Given the description of an element on the screen output the (x, y) to click on. 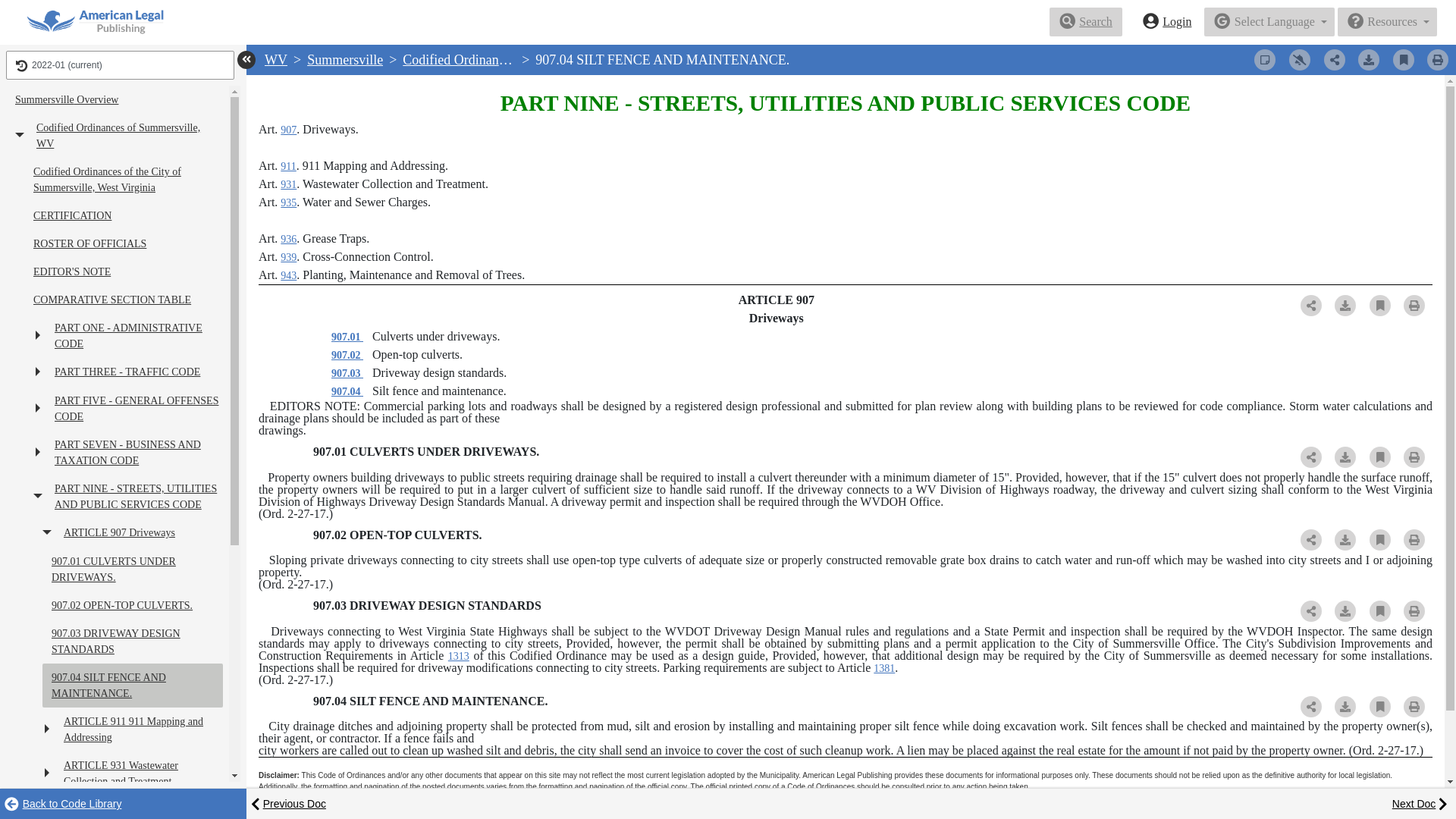
Search (1085, 21)
Annotations Off (1264, 59)
Select Language (1269, 21)
Bookmark (1403, 59)
2022-01 (119, 64)
Codified Ordinances of Summersville, WV (521, 59)
Print (1437, 59)
West Virginia (275, 59)
Download (1368, 59)
Summersville (344, 59)
Follow (1299, 59)
Share (1334, 59)
Login (1167, 21)
